Given the description of an element on the screen output the (x, y) to click on. 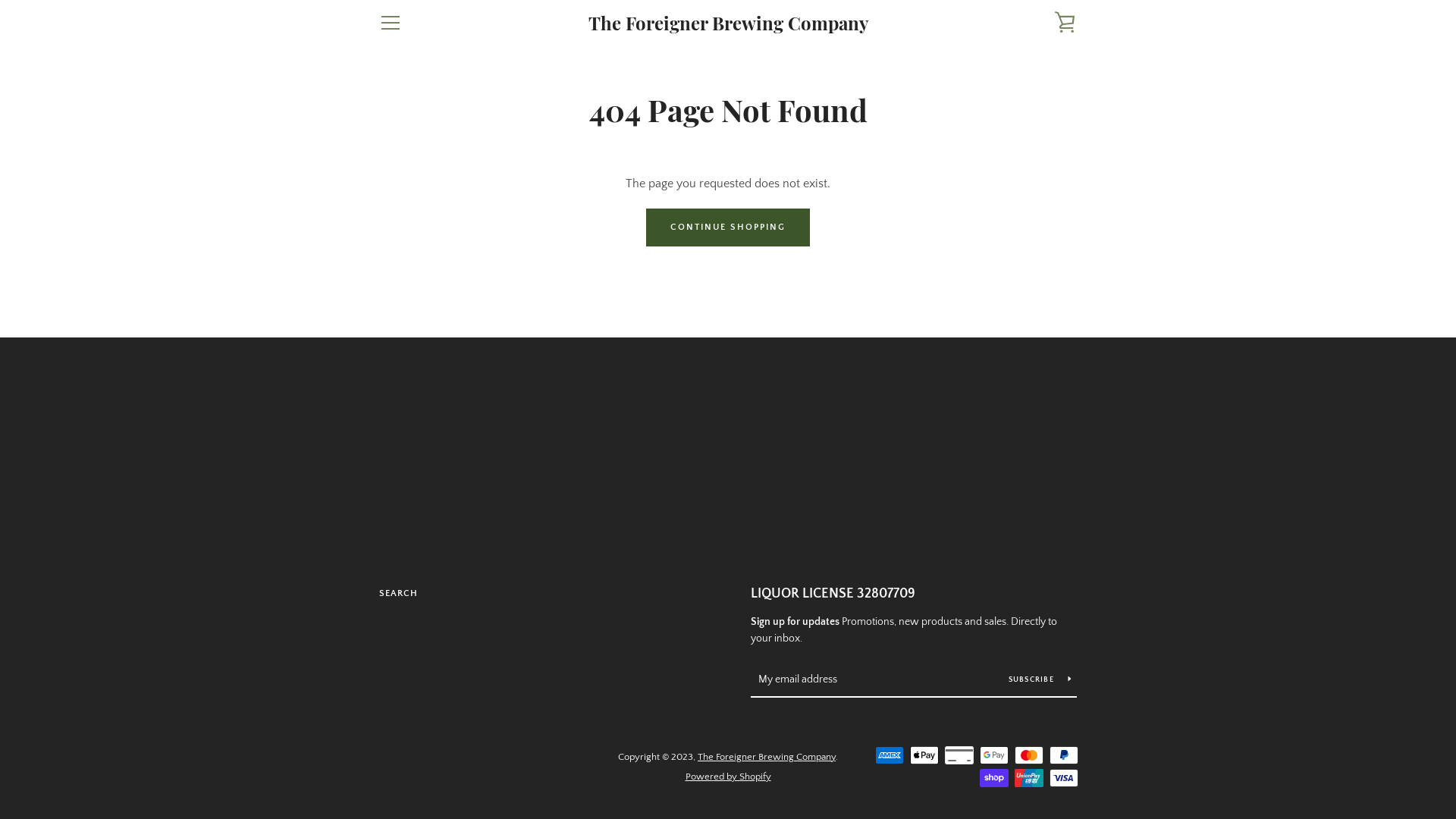
CONTINUE SHOPPING Element type: text (727, 227)
MENU Element type: text (390, 22)
Skip to content Element type: text (0, 0)
The Foreigner Brewing Company Element type: text (728, 23)
SUBSCRIBE Element type: text (1039, 679)
The Foreigner Brewing Company Element type: text (766, 756)
SEARCH Element type: text (398, 593)
Powered by Shopify Element type: text (728, 776)
VIEW CART Element type: text (1065, 22)
